Given the description of an element on the screen output the (x, y) to click on. 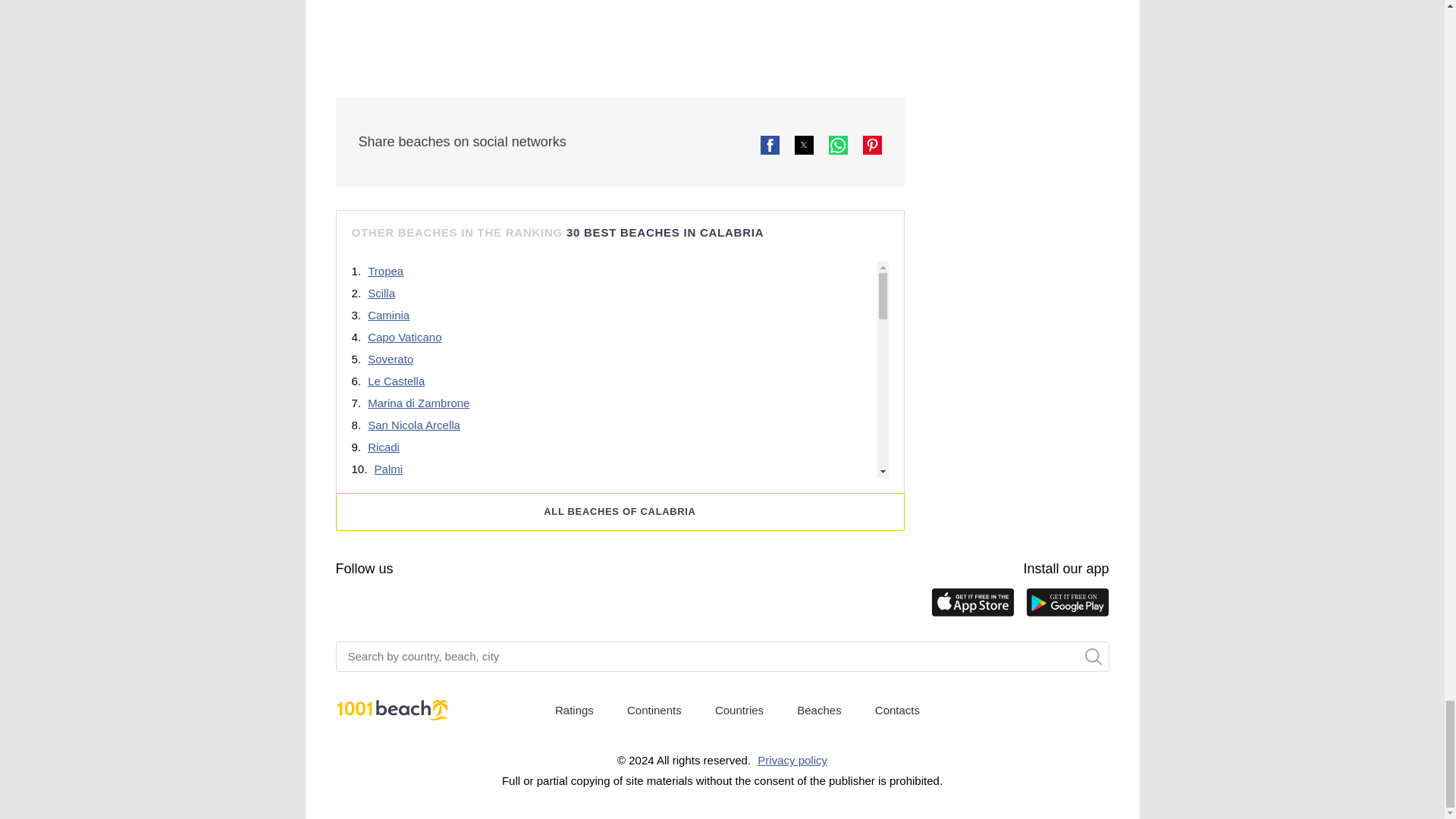
Pinterest (435, 605)
Twitter (466, 605)
Google play (1066, 603)
Facebook (343, 605)
YouTube (374, 605)
App Store (972, 603)
Tumblr (405, 605)
GET IT FREE ON (1066, 603)
